Given the description of an element on the screen output the (x, y) to click on. 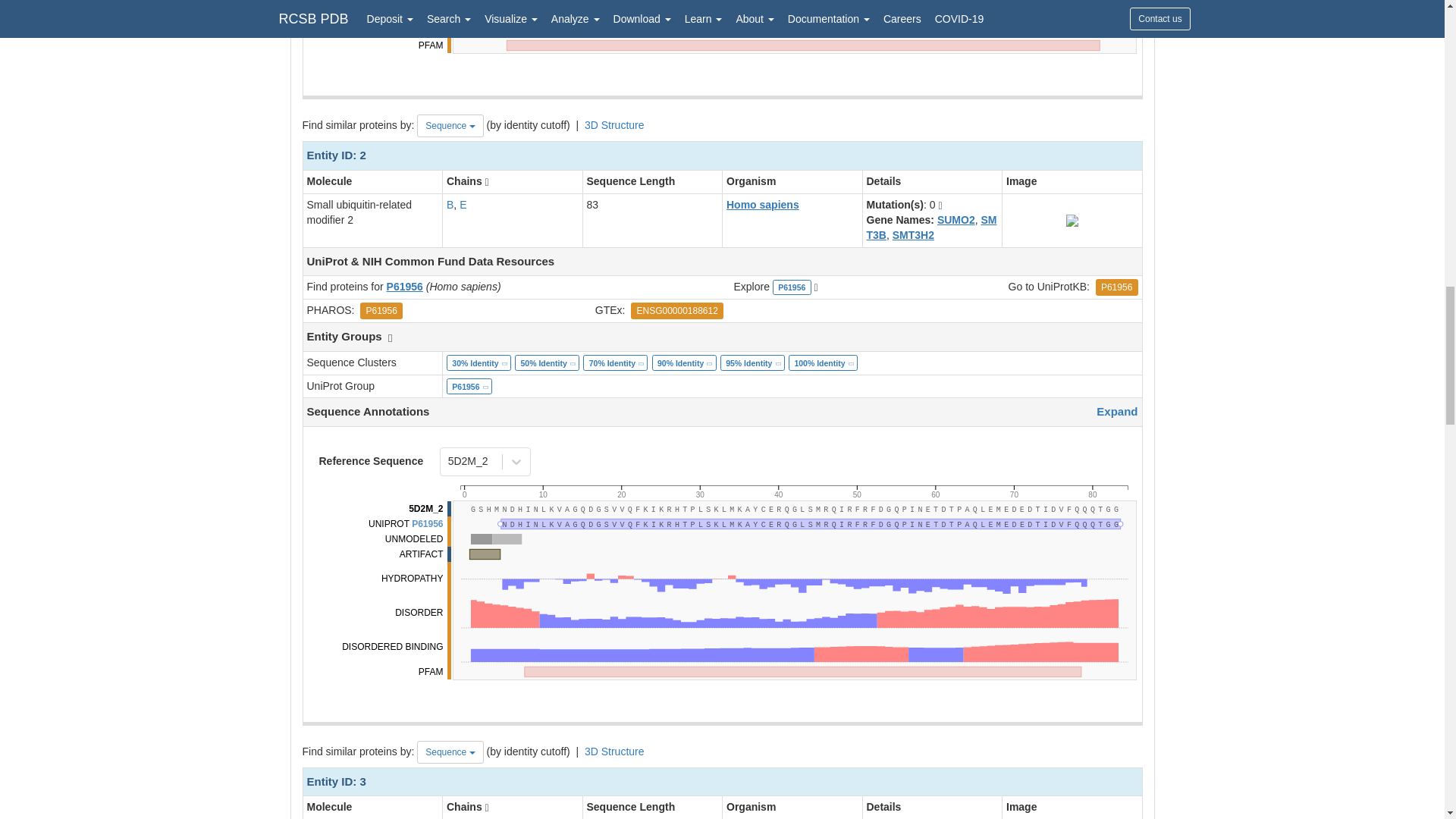
Diseases, drugs and related data (792, 488)
